Given the description of an element on the screen output the (x, y) to click on. 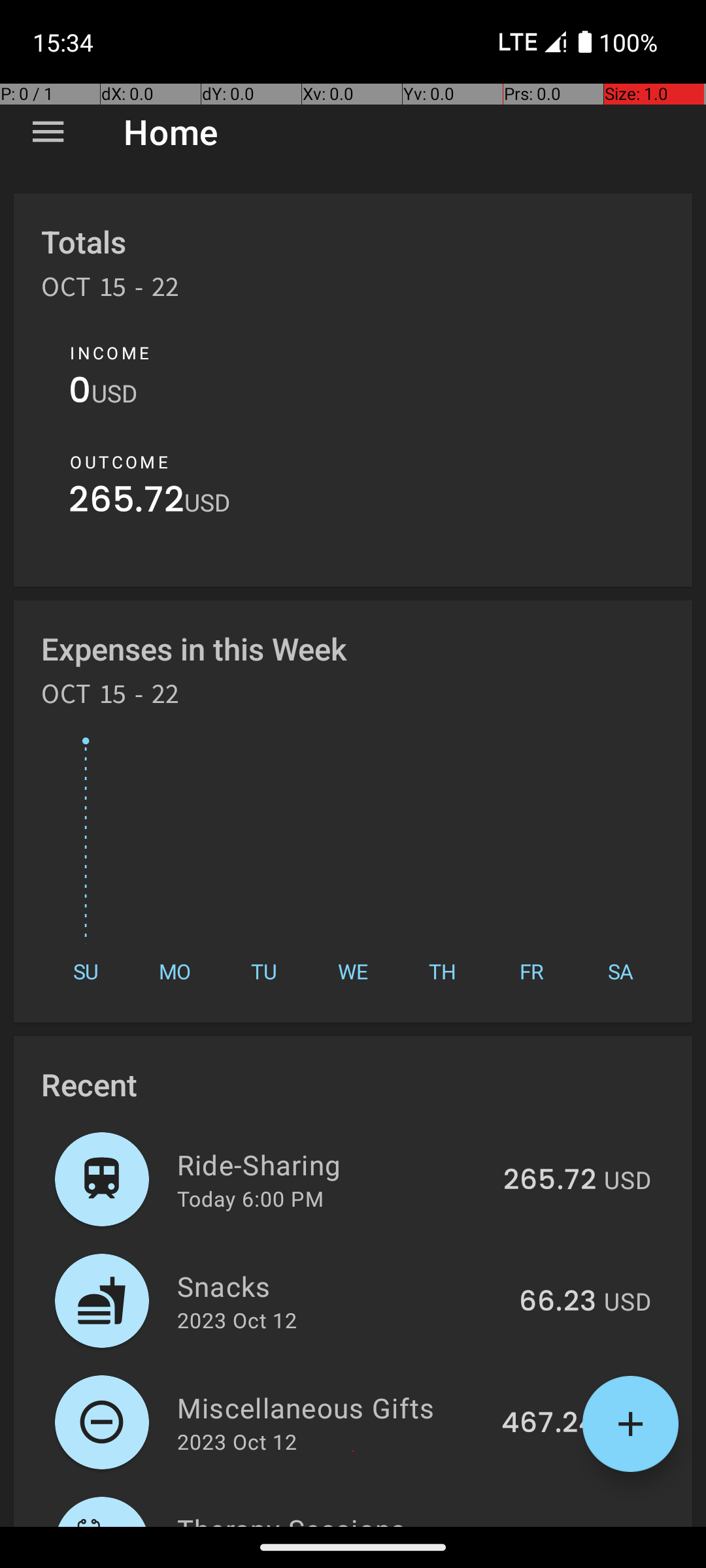
265.72 Element type: android.widget.TextView (126, 502)
Today 6:00 PM Element type: android.widget.TextView (250, 1198)
Snacks Element type: android.widget.TextView (340, 1285)
66.23 Element type: android.widget.TextView (557, 1301)
Miscellaneous Gifts Element type: android.widget.TextView (331, 1407)
467.24 Element type: android.widget.TextView (548, 1423)
Therapy Sessions Element type: android.widget.TextView (339, 1518)
85.76 Element type: android.widget.TextView (556, 1524)
